Given the description of an element on the screen output the (x, y) to click on. 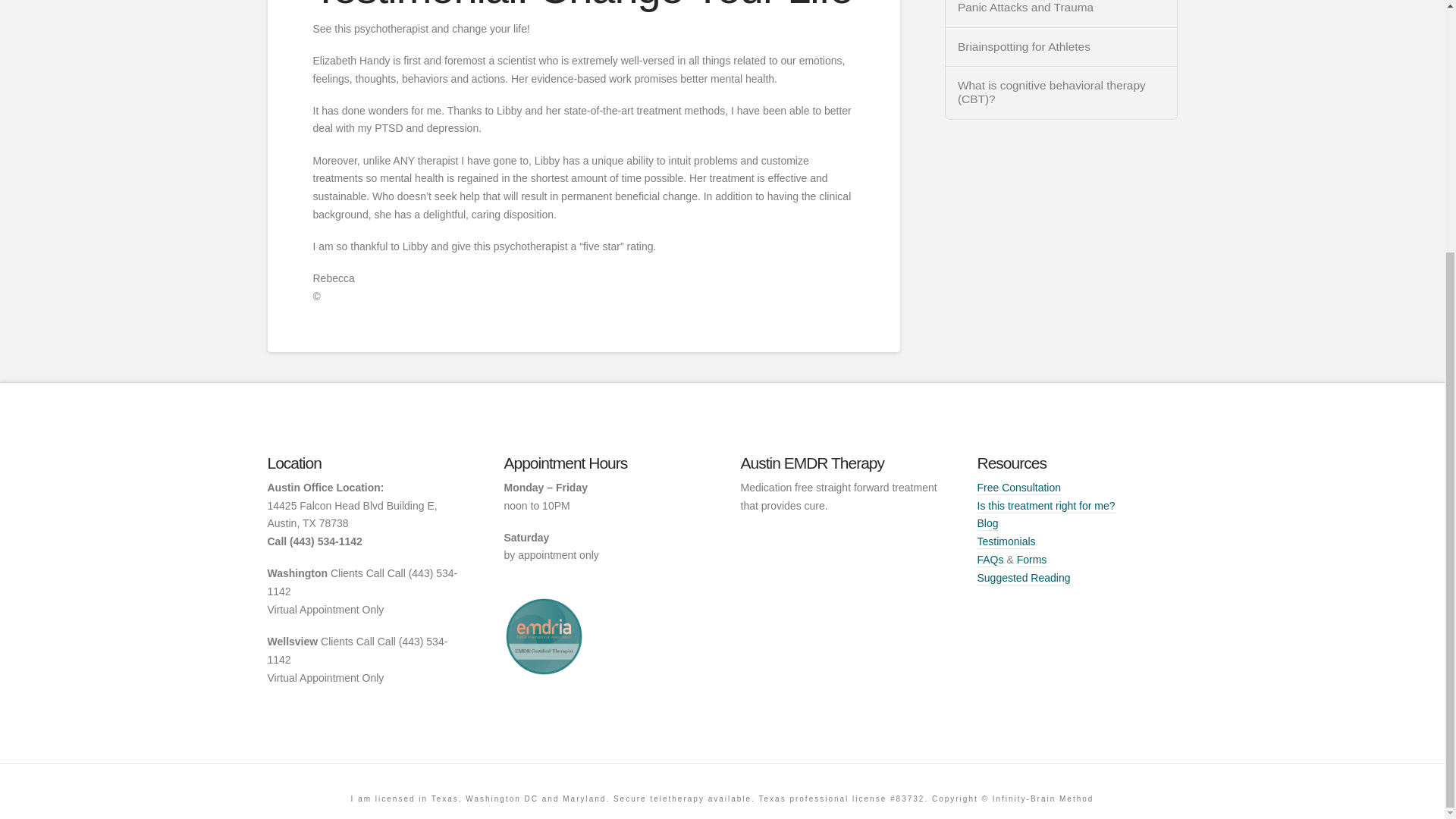
Briainspotting for Athletes (1061, 47)
Suggested Reading (1023, 578)
Is this treatment right for me? (1045, 506)
Forms (1031, 560)
Blog (986, 523)
Free Consultation (1018, 488)
FAQs (989, 560)
Testimonials (1005, 541)
